Given the description of an element on the screen output the (x, y) to click on. 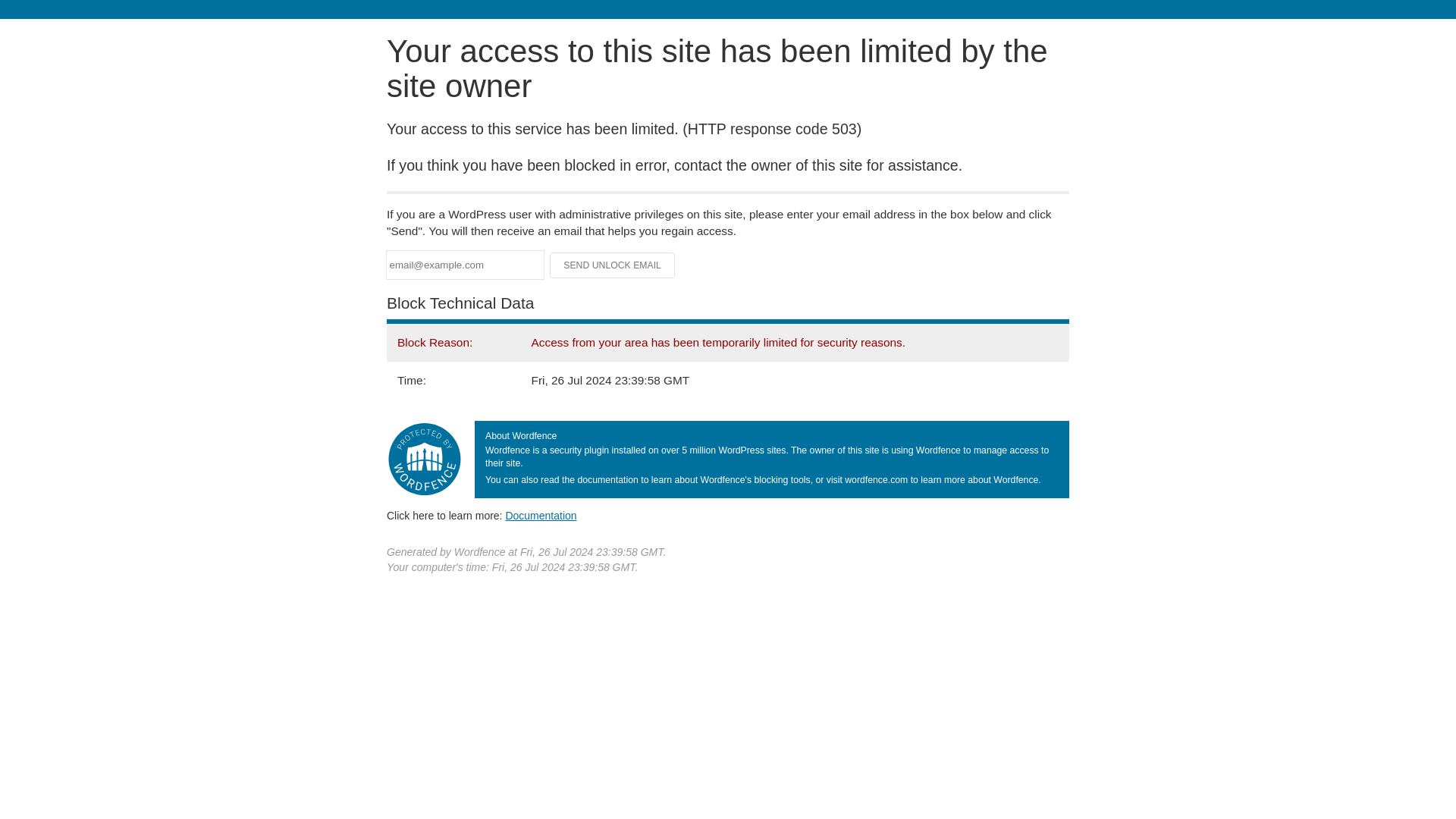
Documentation (540, 515)
Send Unlock Email (612, 265)
Send Unlock Email (612, 265)
